Given the description of an element on the screen output the (x, y) to click on. 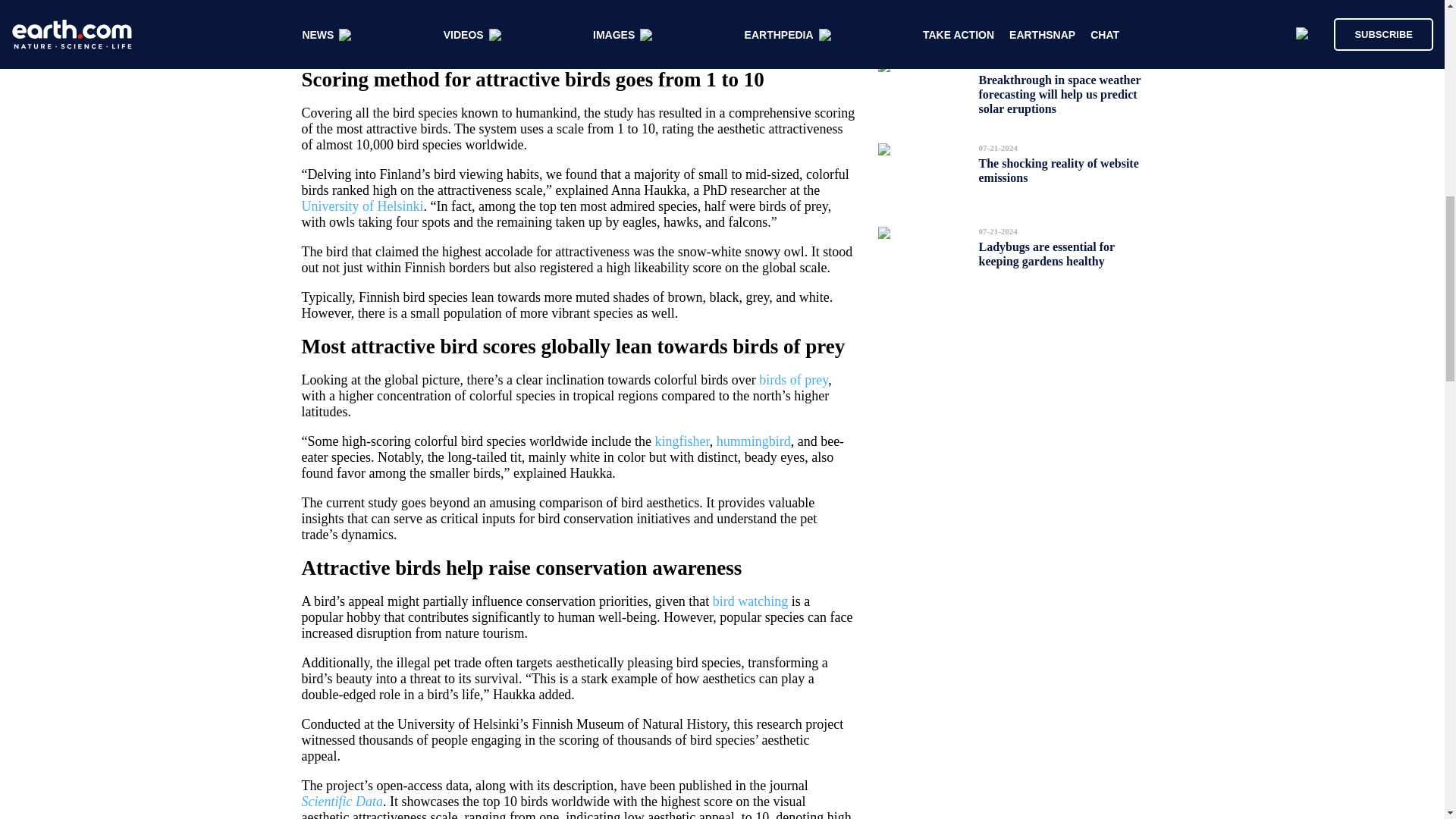
University of Helsinki (362, 206)
Scientific Data (341, 801)
kingfisher (681, 441)
bird watching (750, 601)
birds of prey (793, 379)
hummingbird (753, 441)
